Given the description of an element on the screen output the (x, y) to click on. 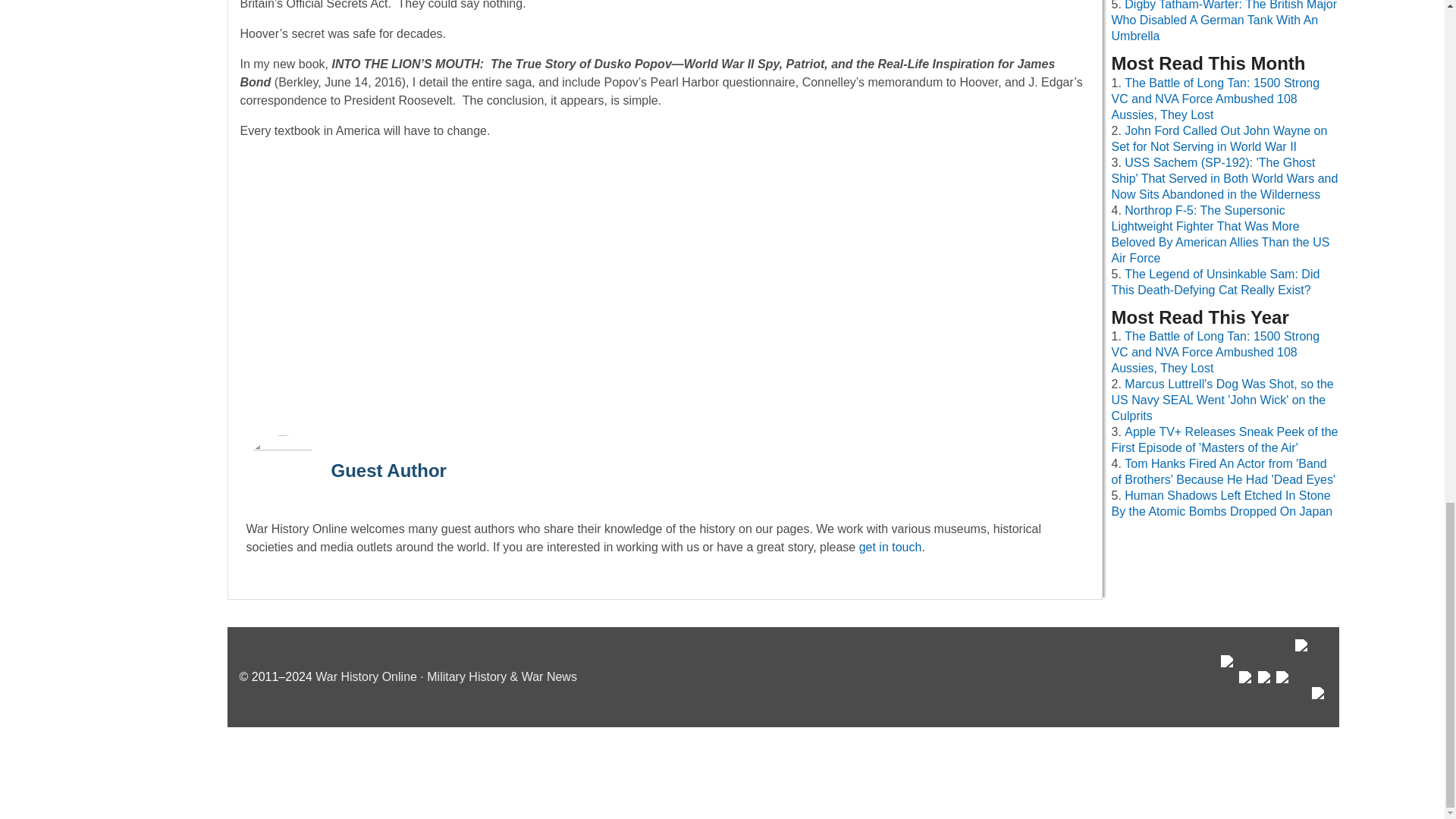
UNSPEAKABLE:  FBI Warned About Pearl Harbor! (664, 284)
